Given the description of an element on the screen output the (x, y) to click on. 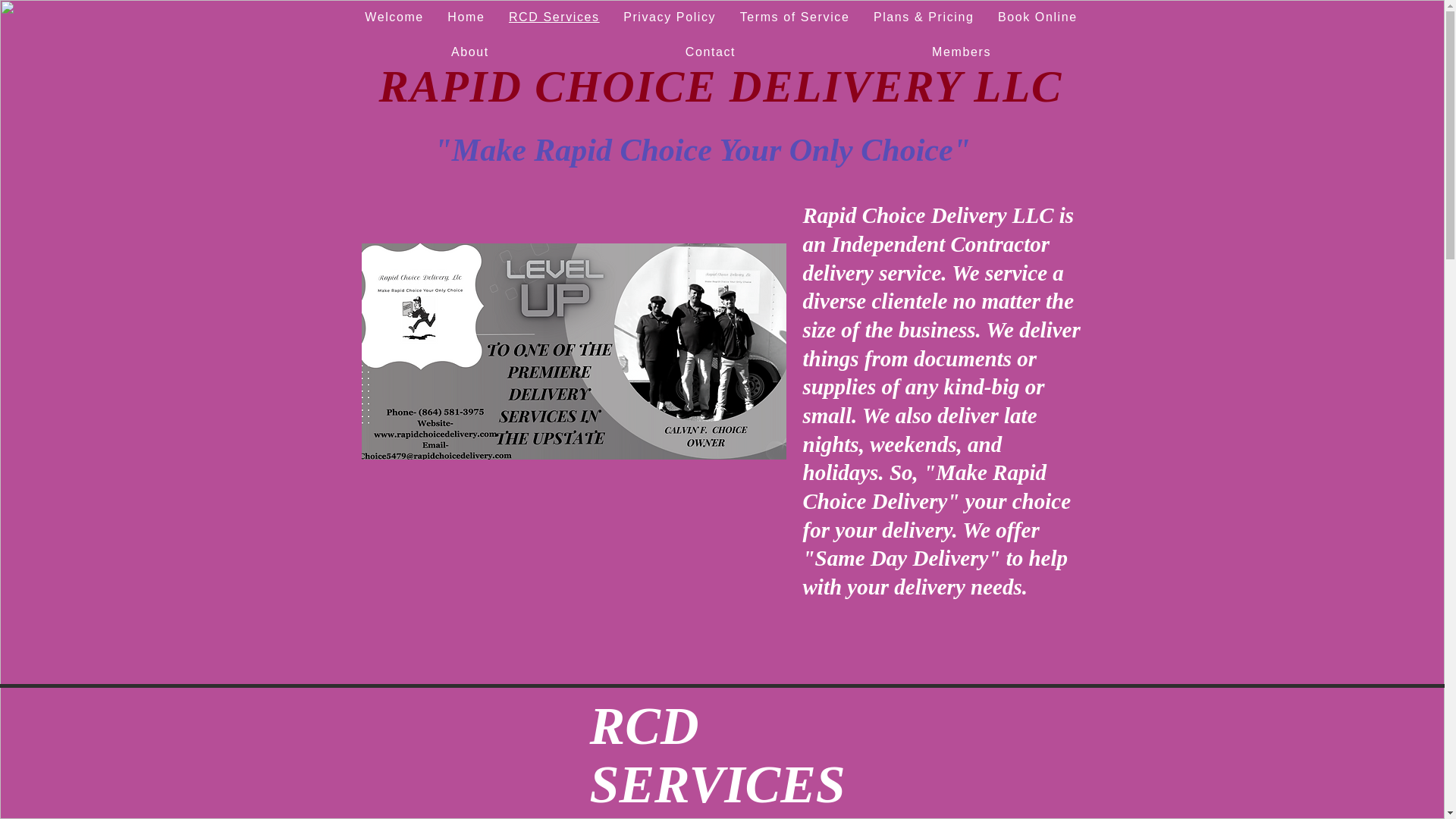
Privacy Policy (669, 17)
About (470, 51)
RCD Services (553, 17)
Welcome (394, 17)
Contact (709, 51)
Book Online (1037, 17)
Home (467, 17)
Terms of Service (794, 17)
Members (961, 51)
